Given the description of an element on the screen output the (x, y) to click on. 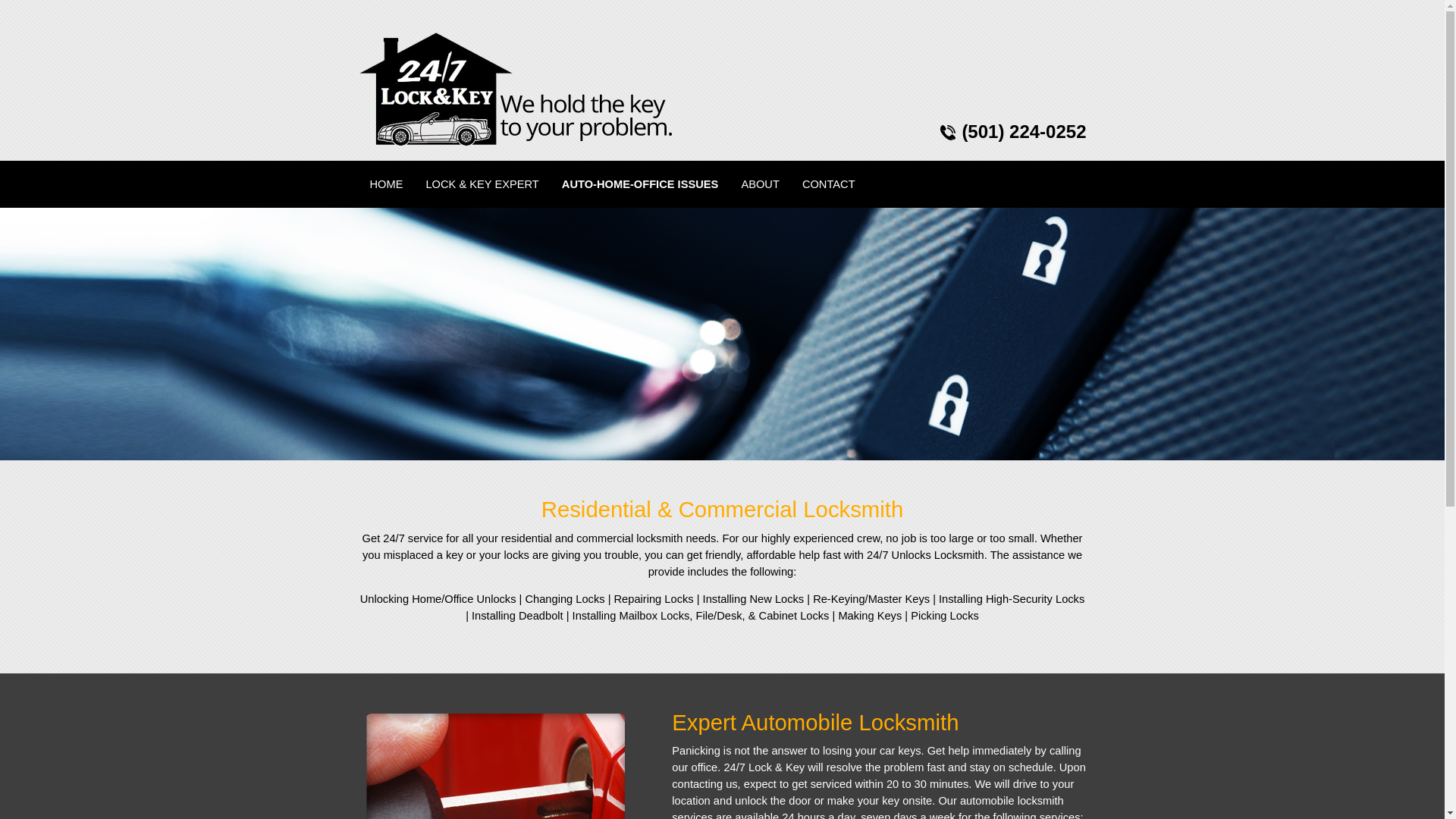
AUTO-HOME-OFFICE ISSUES Element type: text (640, 183)
CONTACT Element type: text (828, 183)
Phone Icon Element type: hover (947, 131)
24/7 Lock & Key, Logo Element type: hover (514, 88)
LOCK & KEY EXPERT Element type: text (481, 183)
ABOUT Element type: text (760, 183)
HOME Element type: text (386, 183)
